Given the description of an element on the screen output the (x, y) to click on. 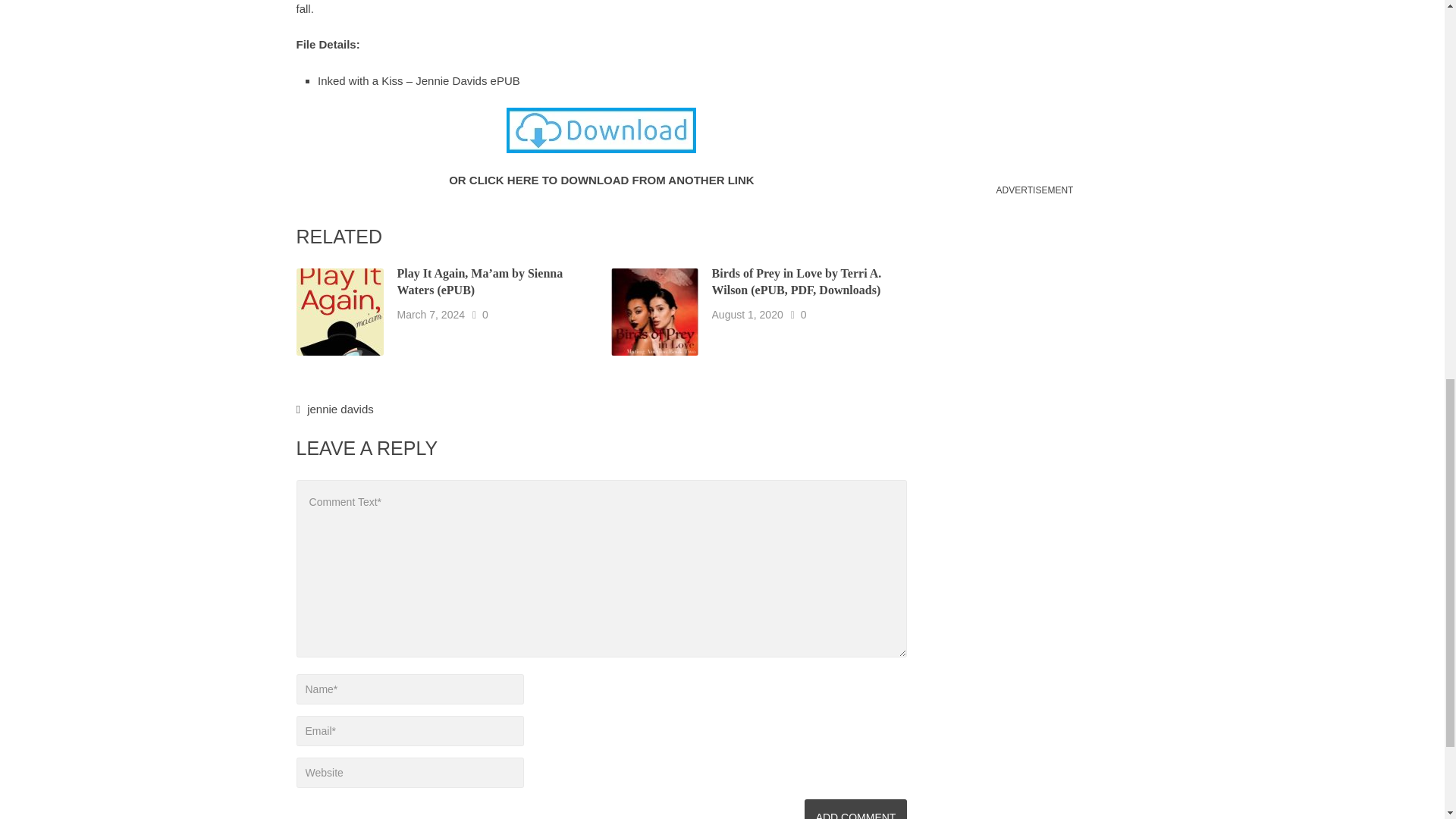
Add Comment (856, 809)
0 (803, 314)
jennie davids (340, 408)
Add Comment (856, 809)
0 (485, 314)
OR CLICK HERE TO DOWNLOAD FROM ANOTHER LINK (601, 179)
